Given the description of an element on the screen output the (x, y) to click on. 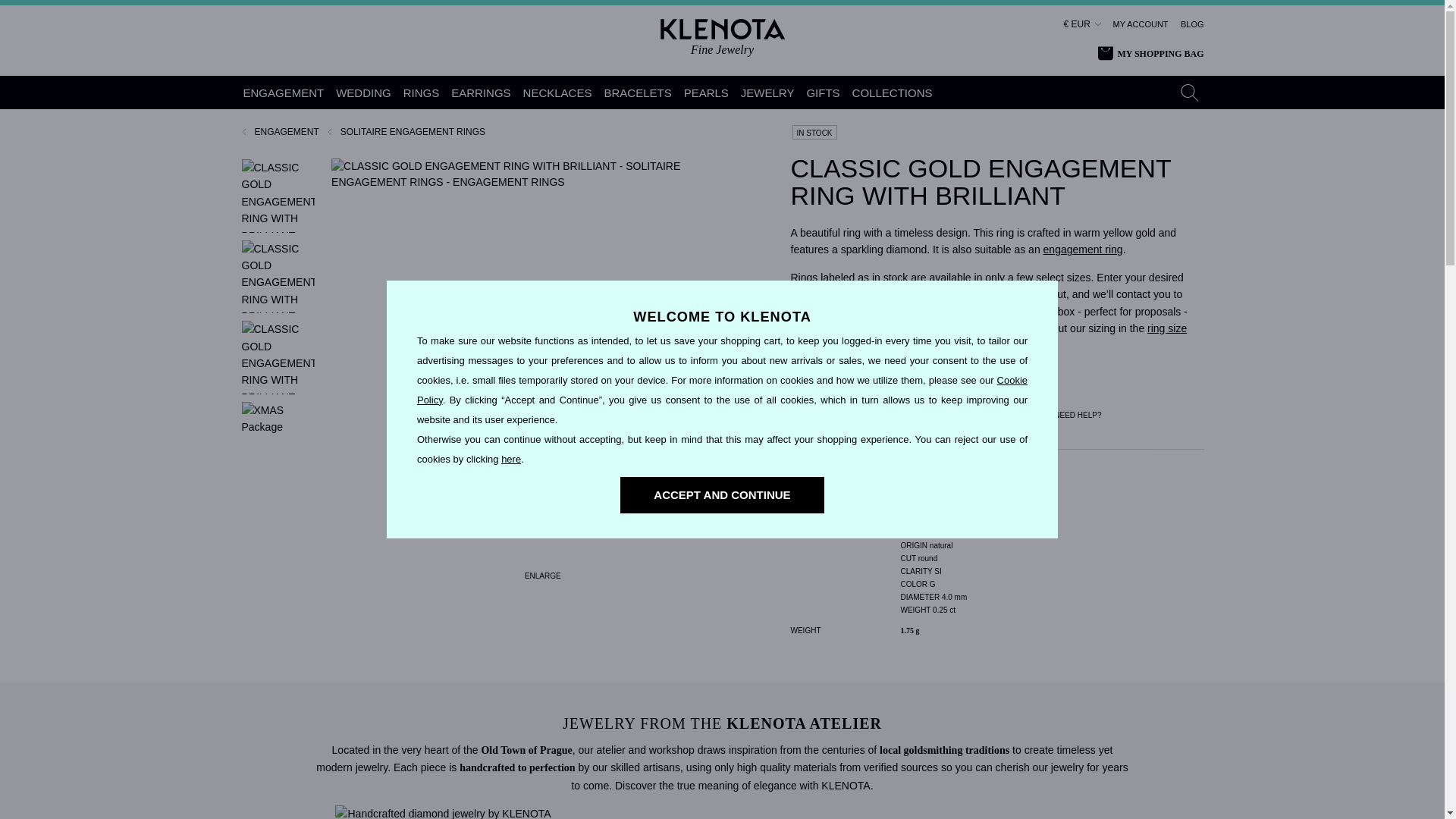
ENGAGEMENT (283, 92)
MY ACCOUNT (1141, 24)
MY SHOPPING BAG (1150, 53)
BLOG (1192, 24)
